Given the description of an element on the screen output the (x, y) to click on. 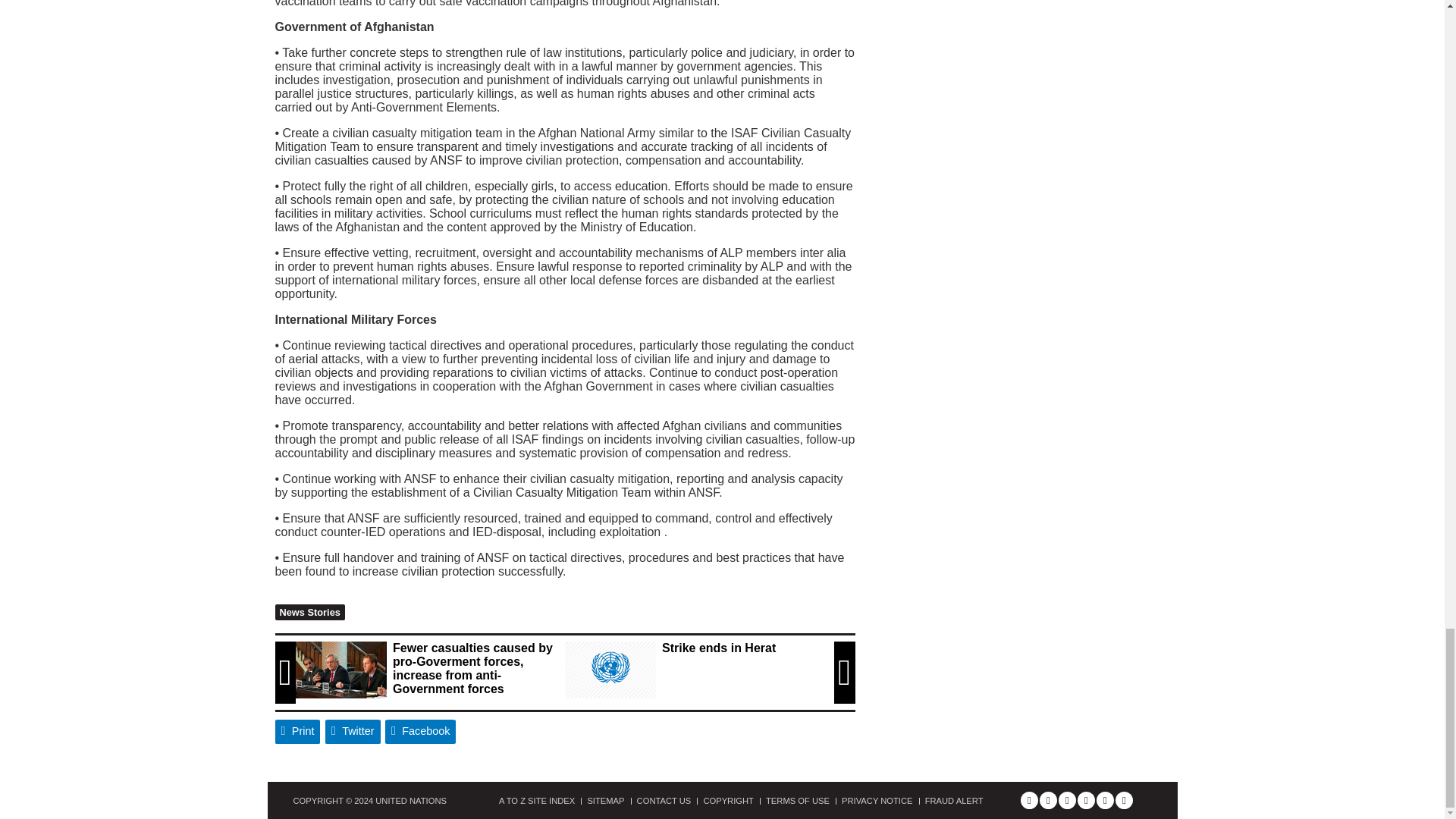
Print (297, 731)
Strike ends in Herat (610, 669)
Twitter (352, 731)
Facebook (421, 731)
